Given the description of an element on the screen output the (x, y) to click on. 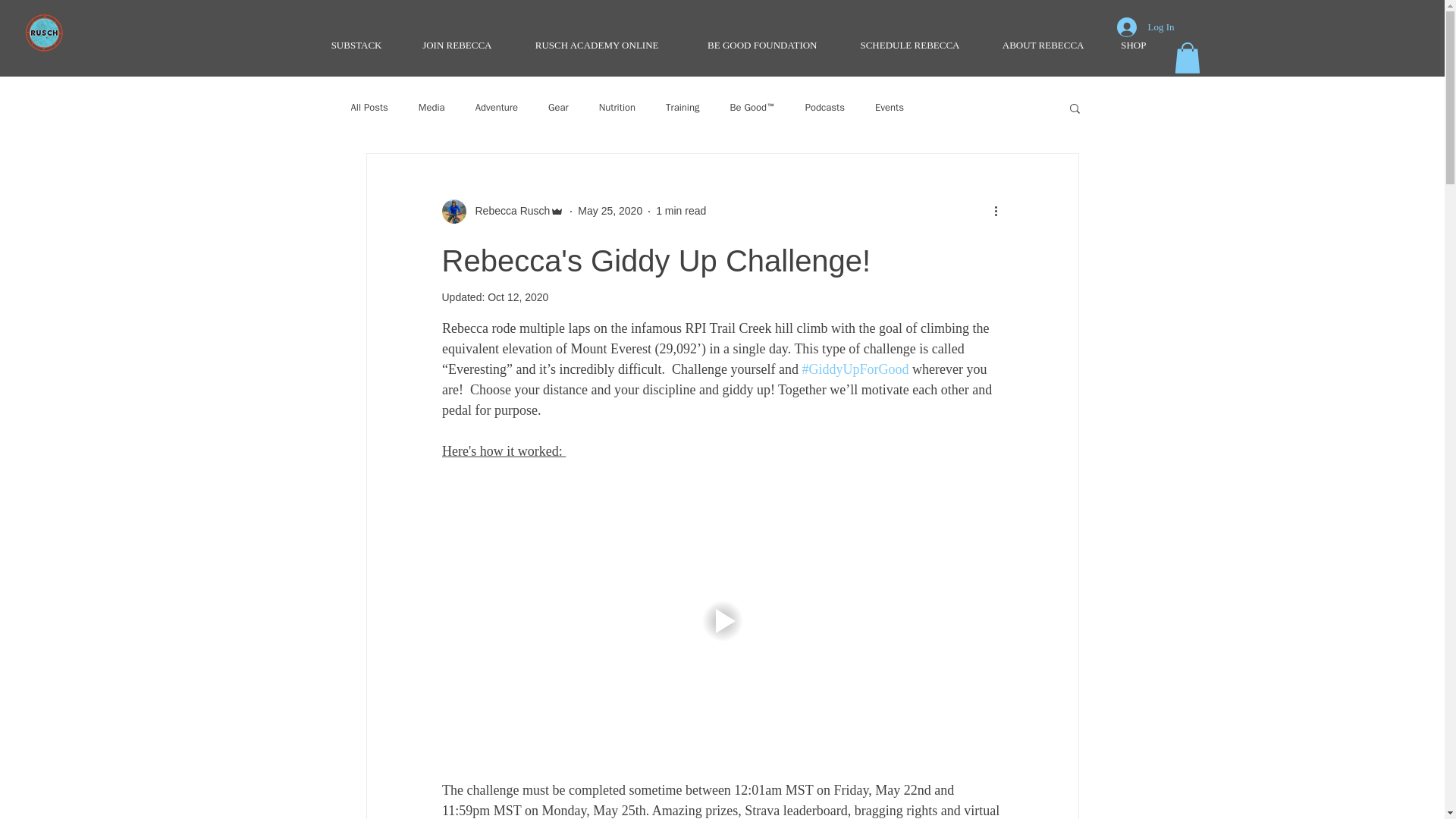
Rebecca Rusch (507, 211)
Podcasts (824, 107)
May 25, 2020 (610, 210)
1 min read (681, 210)
Adventure (497, 107)
SHOP (1125, 45)
SCHEDULE REBECCA (899, 45)
BE GOOD FOUNDATION (748, 45)
Media (432, 107)
Oct 12, 2020 (517, 297)
